Given the description of an element on the screen output the (x, y) to click on. 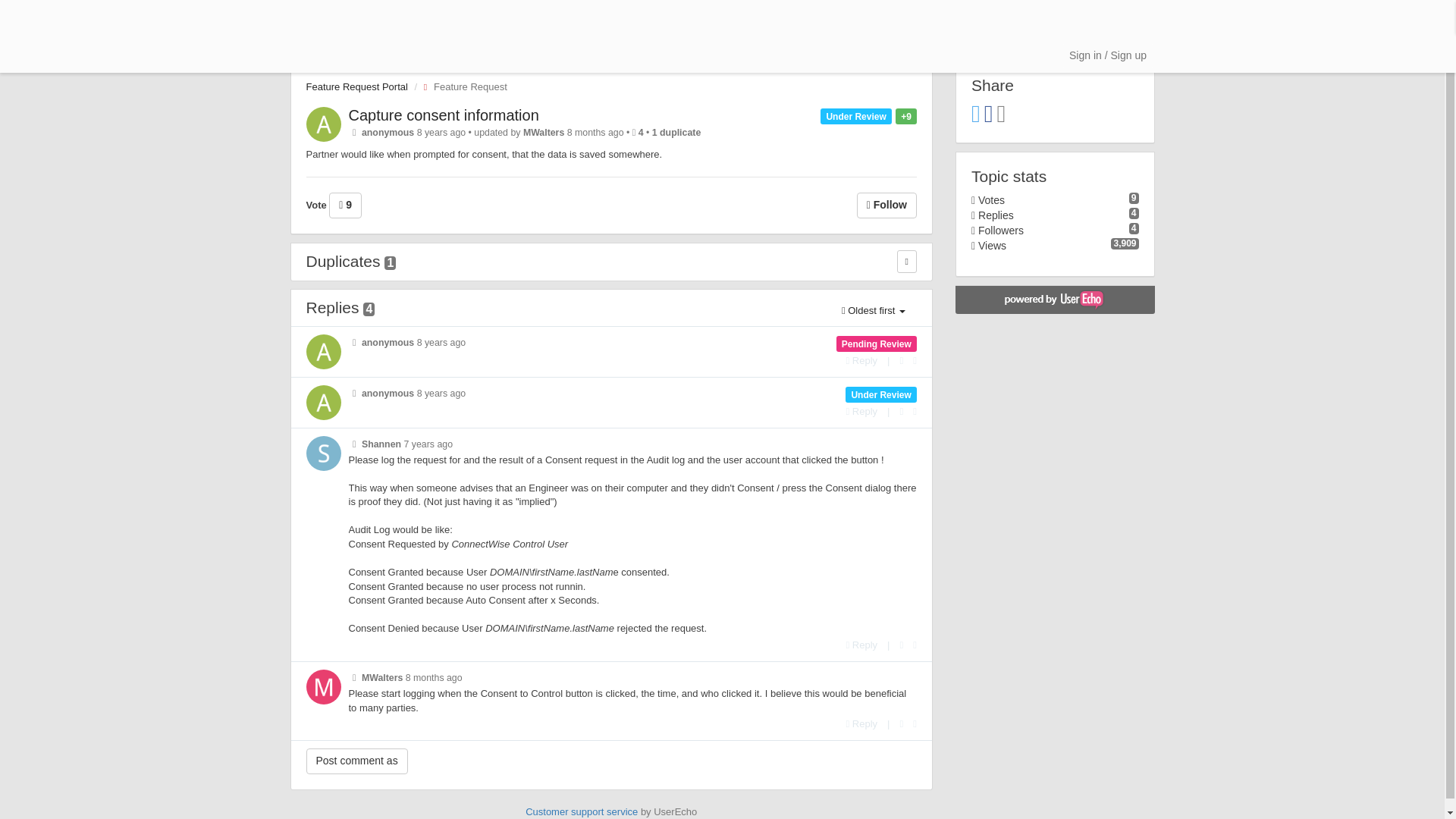
anonymous (387, 132)
Follow (887, 205)
Oldest first (873, 310)
MWalters (543, 132)
8 years ago (440, 342)
Feature Request Portal (356, 86)
anonymous (387, 342)
Reply (861, 360)
Capture consent information (443, 115)
Reply (861, 410)
Feature Request (461, 86)
anonymous (387, 393)
Shannen (381, 443)
8 years ago (440, 393)
9 (345, 205)
